Given the description of an element on the screen output the (x, y) to click on. 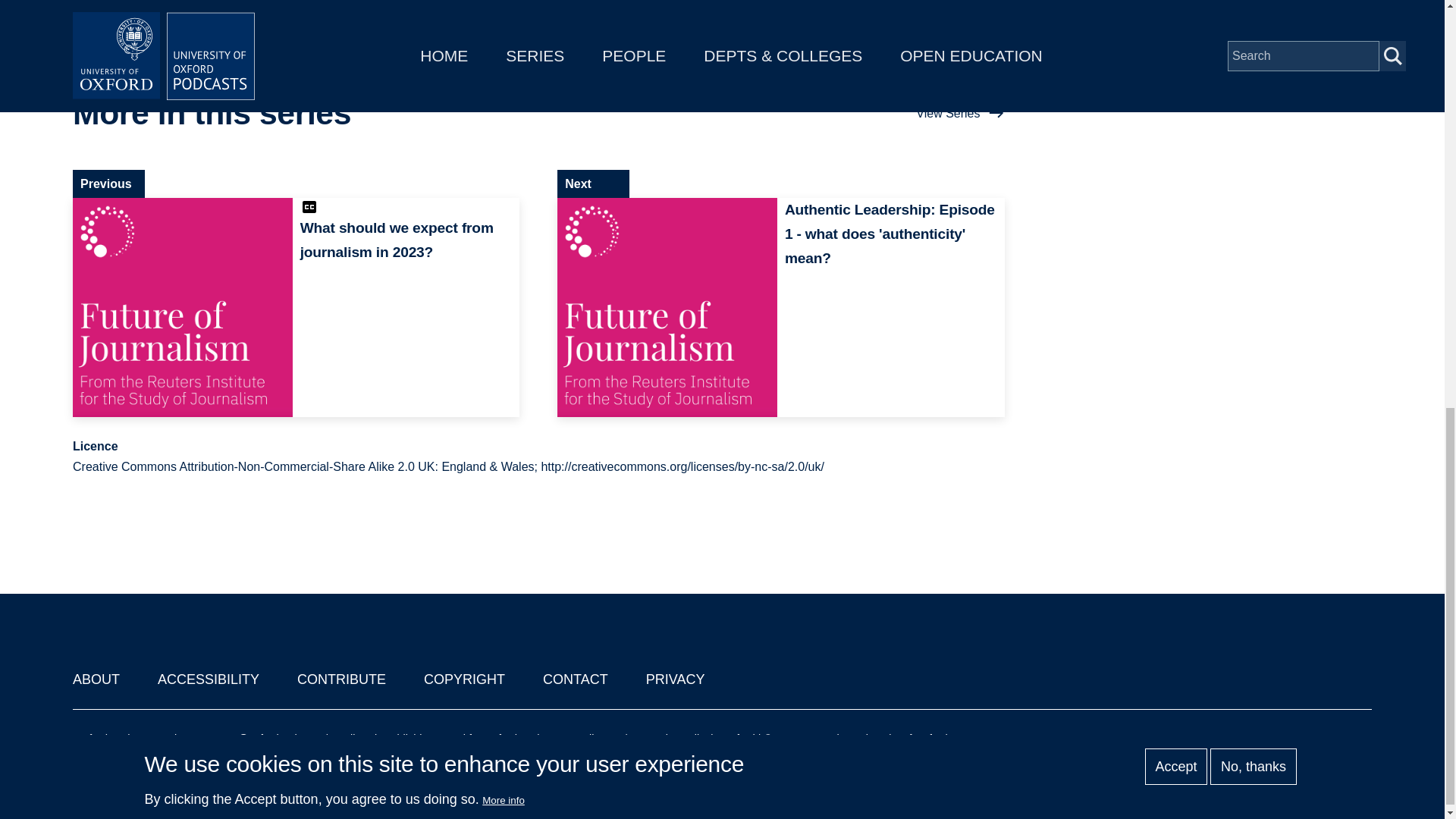
CONTRIBUTE (341, 679)
ACCESSIBILITY (208, 679)
View Series (959, 113)
What should we expect from journalism in 2023? (295, 307)
CONTACT (575, 679)
Download Audio (1217, 17)
Download Transcript (1217, 62)
ABOUT (95, 679)
COPYRIGHT (464, 679)
